Given the description of an element on the screen output the (x, y) to click on. 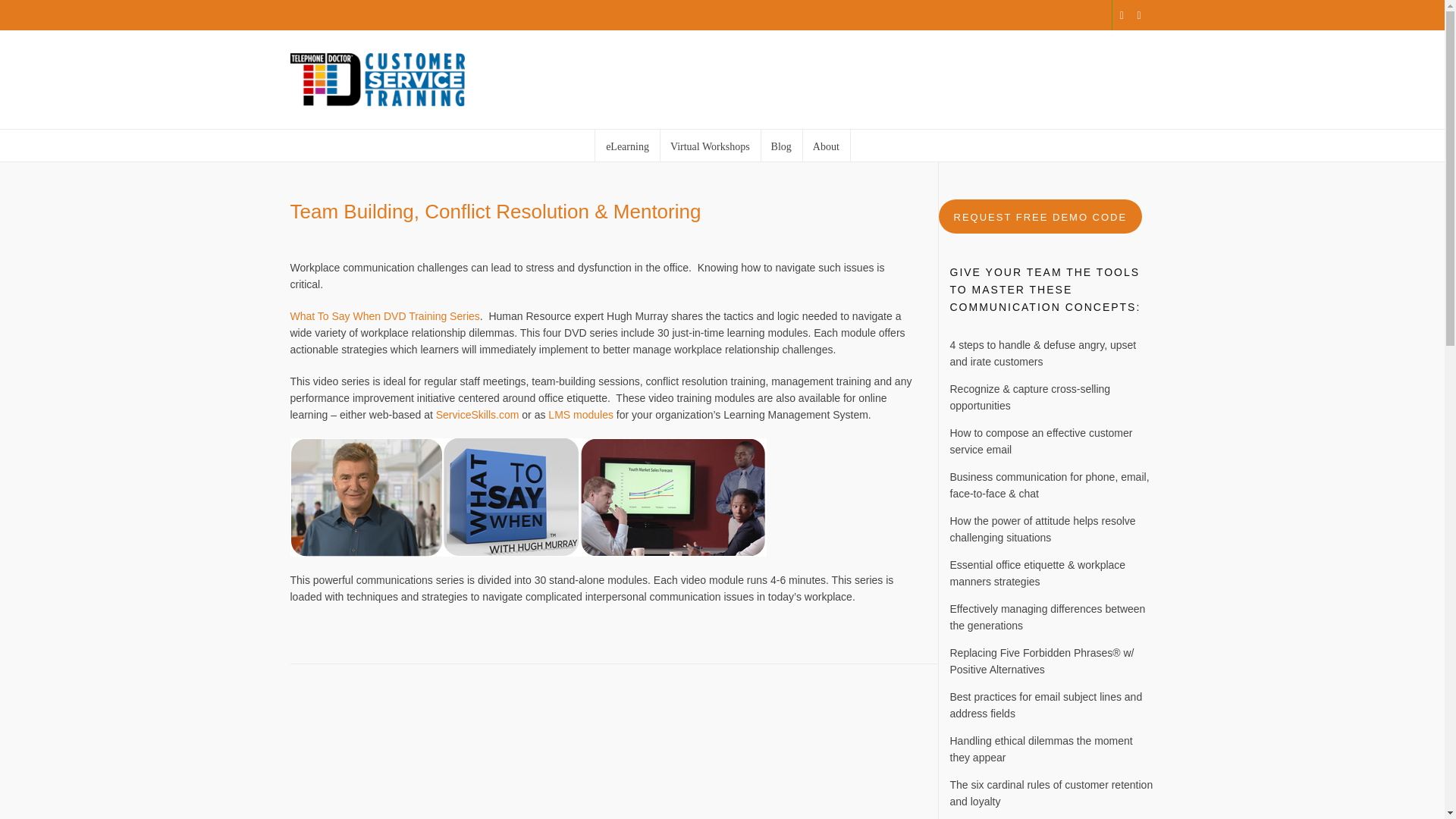
ServiceSkills.com (477, 414)
Blog (781, 145)
LMS modules (580, 414)
What To Say When Training Series (527, 497)
eLearning (627, 145)
About (826, 145)
What To Say When DVD Training Series (384, 316)
Virtual Workshops (710, 145)
REQUEST FREE DEMO CODE (1040, 216)
